Given the description of an element on the screen output the (x, y) to click on. 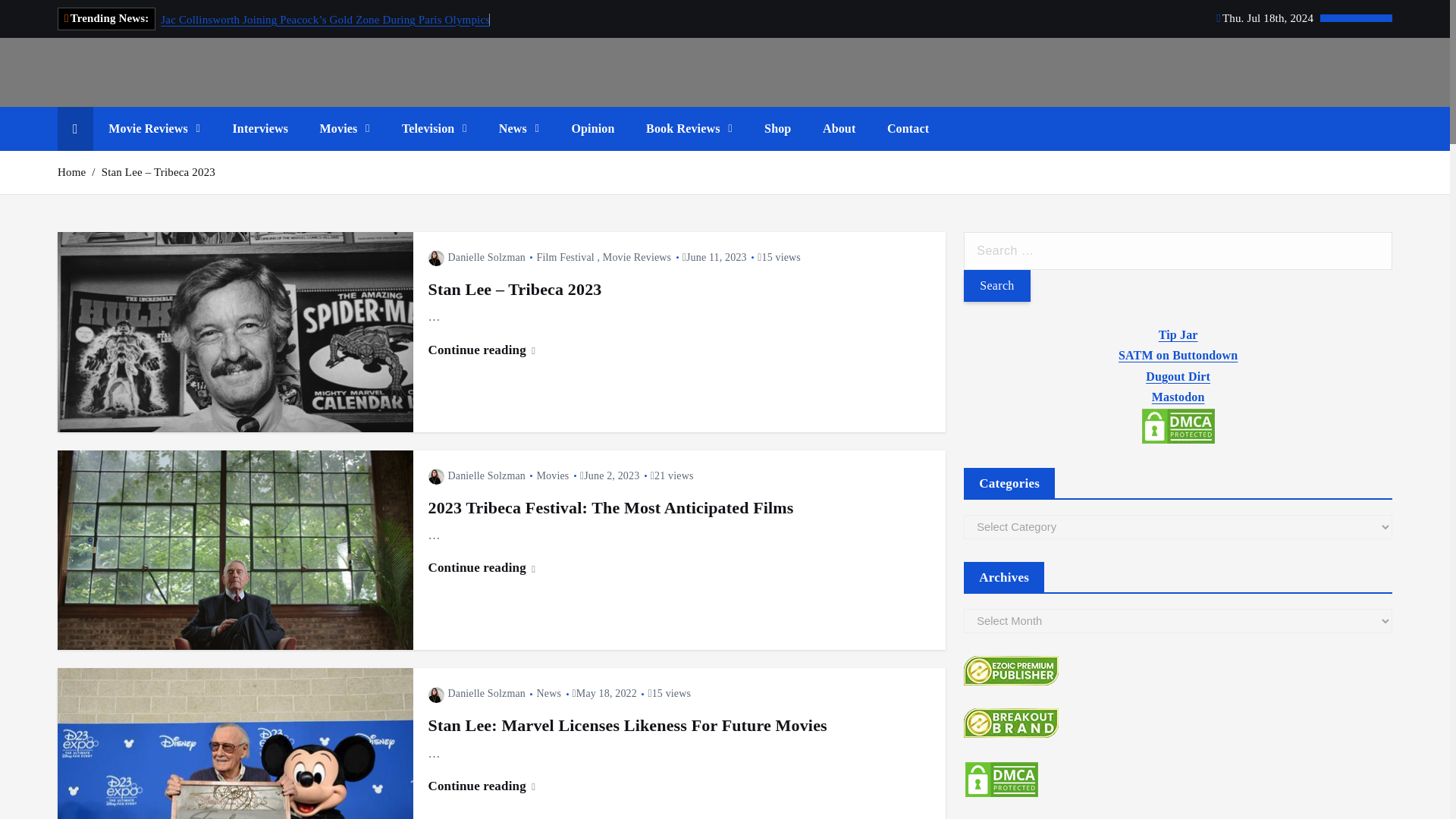
Movies (344, 128)
Search (996, 286)
Search (996, 286)
Movie Reviews (154, 128)
Interviews (259, 128)
